Given the description of an element on the screen output the (x, y) to click on. 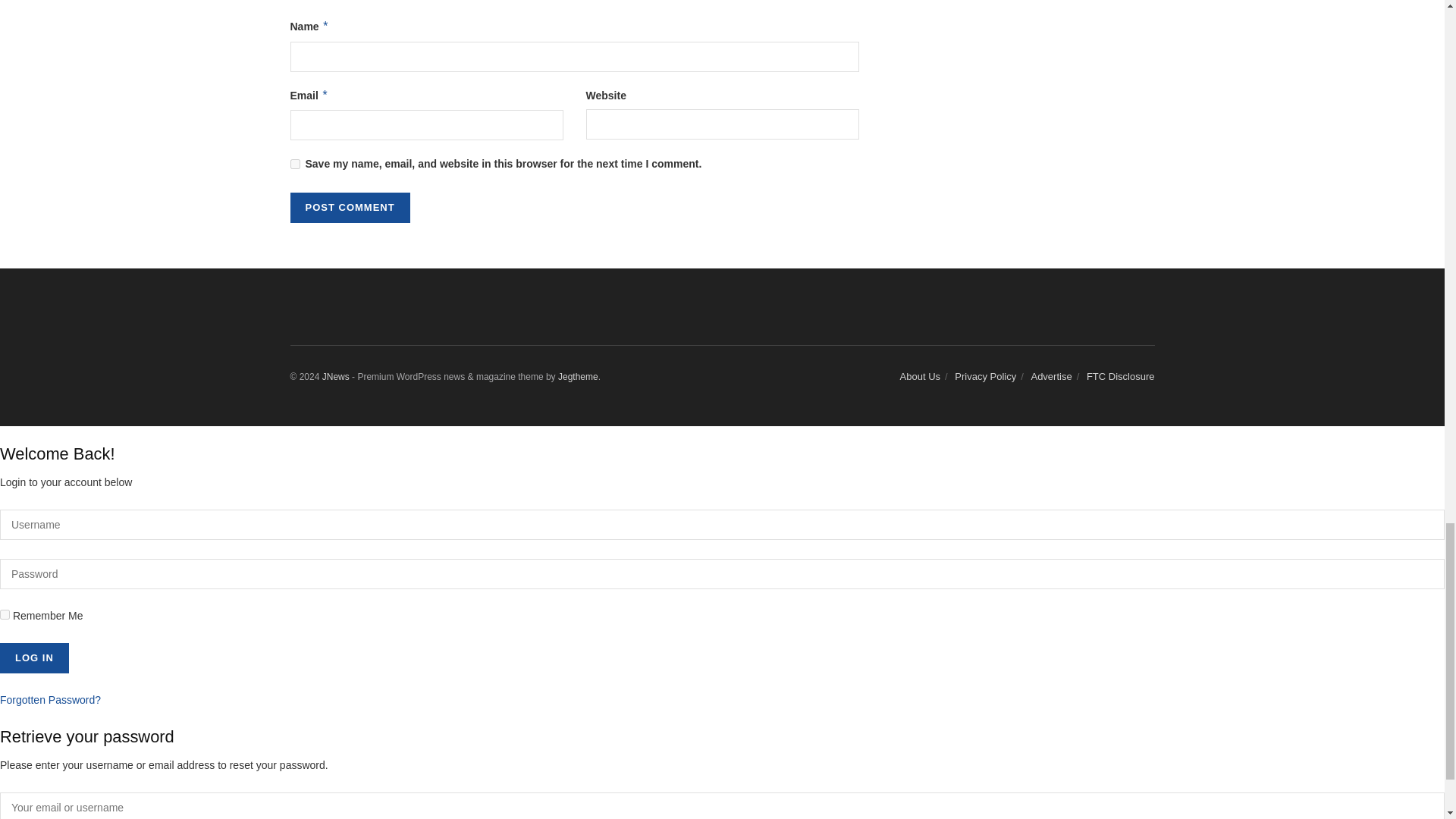
Log In (34, 657)
Post Comment (349, 207)
true (5, 614)
yes (294, 163)
Jegtheme (577, 376)
